Given the description of an element on the screen output the (x, y) to click on. 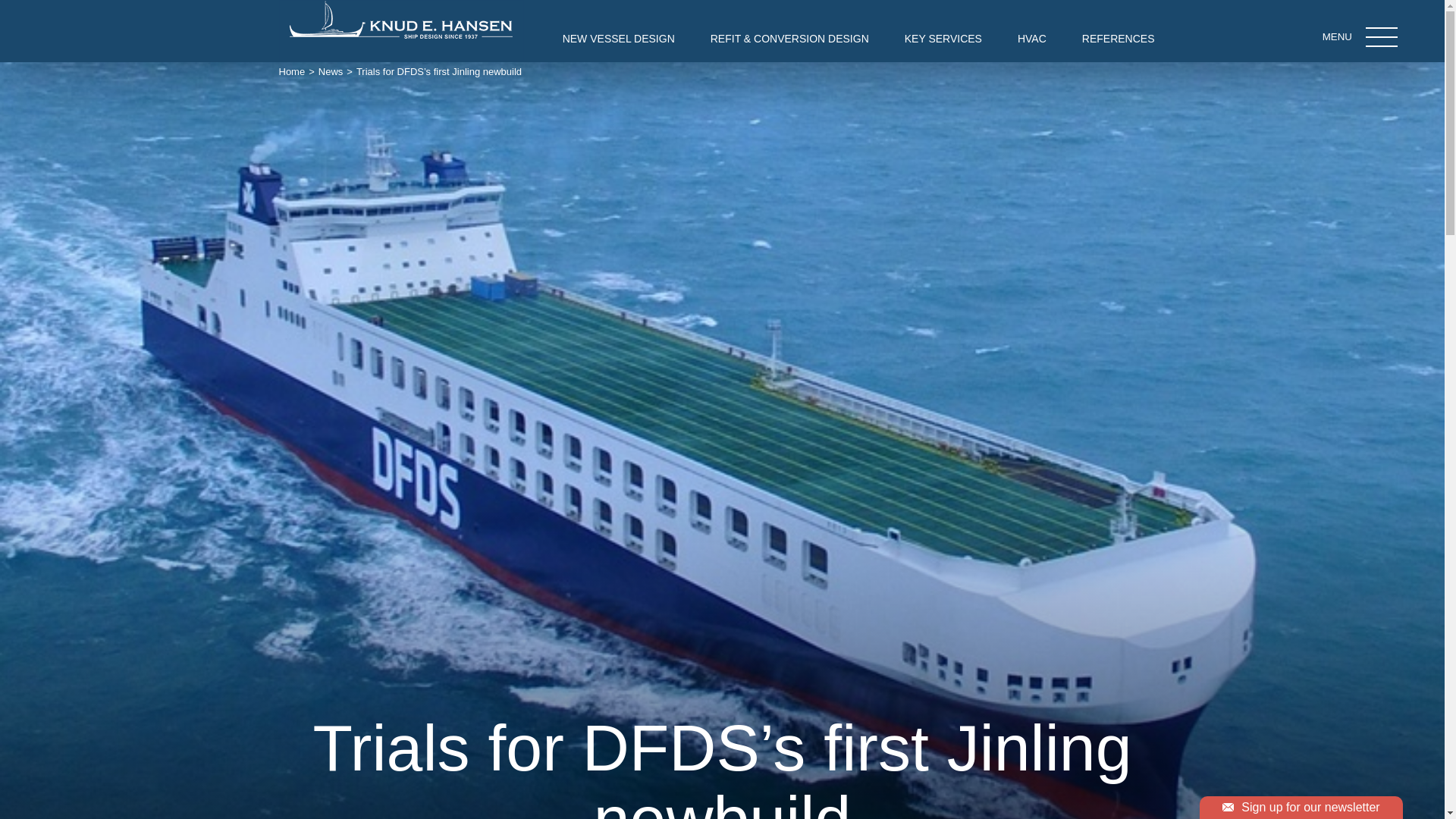
Home (292, 71)
REFERENCES (1117, 38)
News (330, 71)
Go to Homepage. (292, 71)
NEW VESSEL DESIGN (618, 38)
KEY SERVICES (942, 38)
MENU (1381, 36)
Go to News. (330, 71)
